Given the description of an element on the screen output the (x, y) to click on. 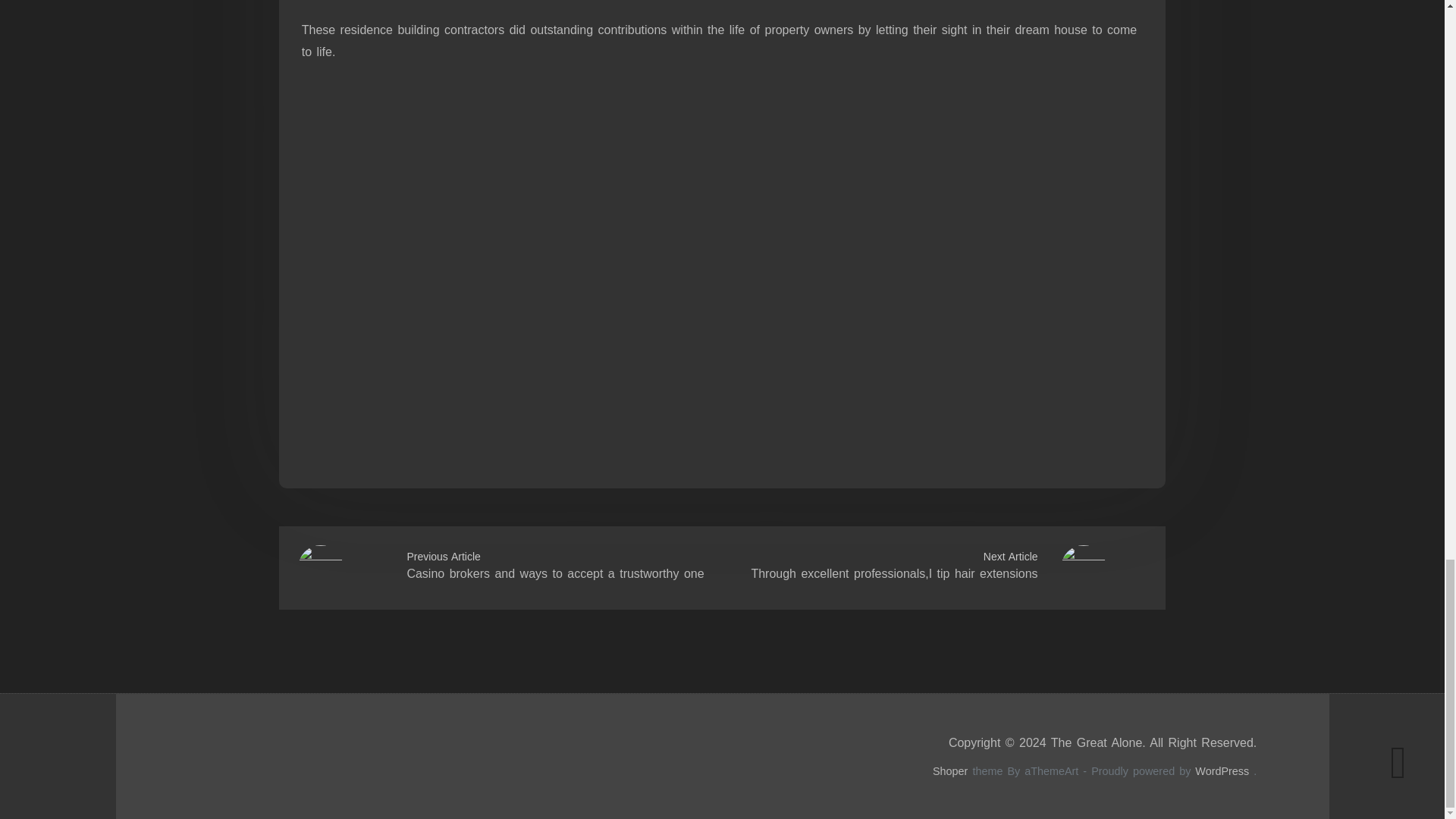
Shoper (950, 770)
Through excellent professionals,I tip hair extensions (893, 573)
WordPress (1222, 770)
Casino brokers and ways to accept a trustworthy one (554, 573)
